Given the description of an element on the screen output the (x, y) to click on. 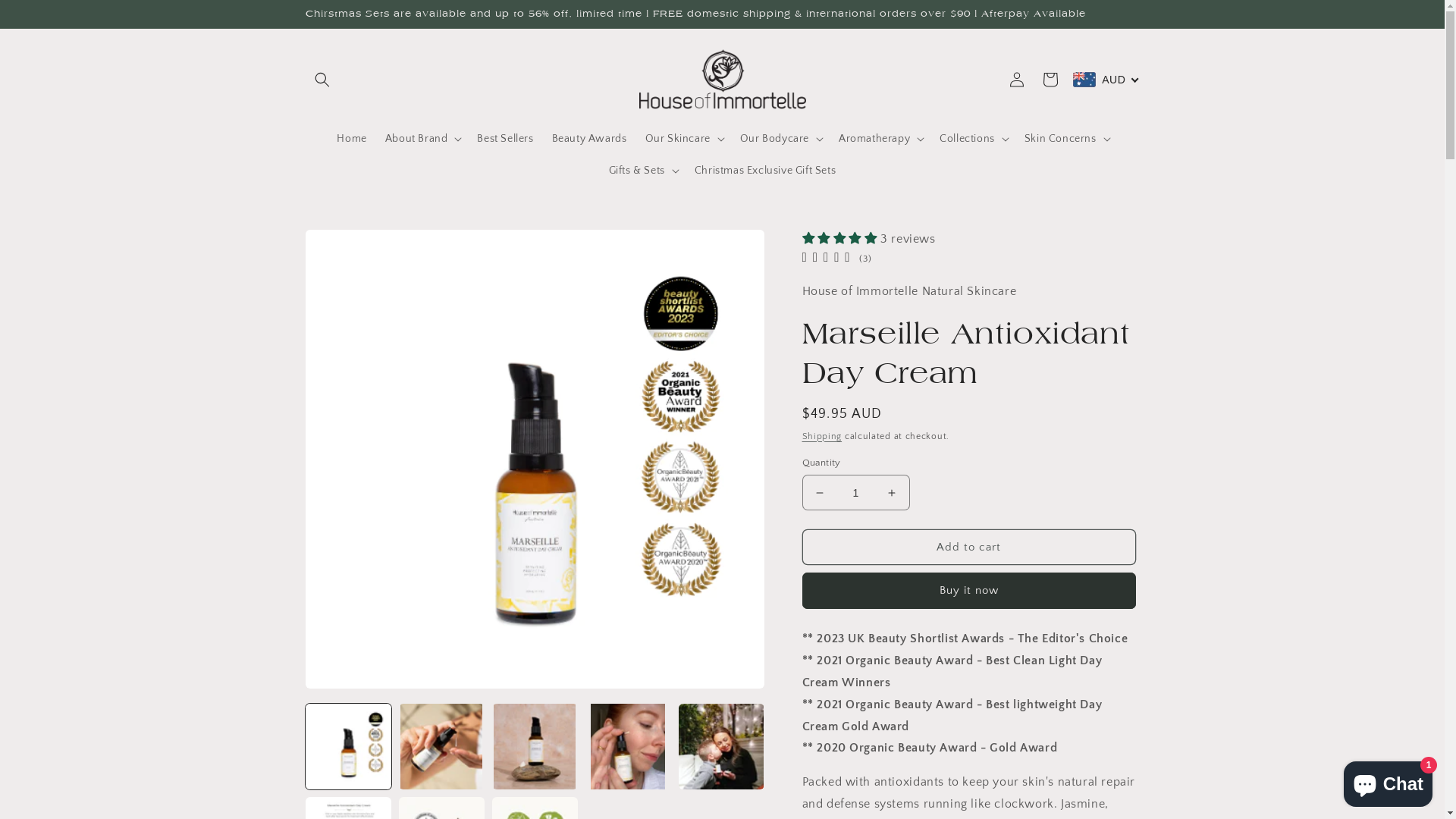
Best Sellers Element type: text (504, 138)
Shipping Element type: text (822, 435)
Home Element type: text (351, 138)
Cart Element type: text (1049, 79)
Buy it now Element type: text (968, 590)
Decrease quantity for Marseille Antioxidant Day Cream Element type: text (819, 492)
Skip to product information Element type: text (350, 246)
Beauty Awards Element type: text (589, 138)
Christmas Exclusive Gift Sets Element type: text (764, 170)
Increase quantity for Marseille Antioxidant Day Cream Element type: text (892, 492)
Shopify online store chat Element type: hover (1388, 780)
Log in Element type: text (1016, 79)
Add to cart Element type: text (968, 546)
